Given the description of an element on the screen output the (x, y) to click on. 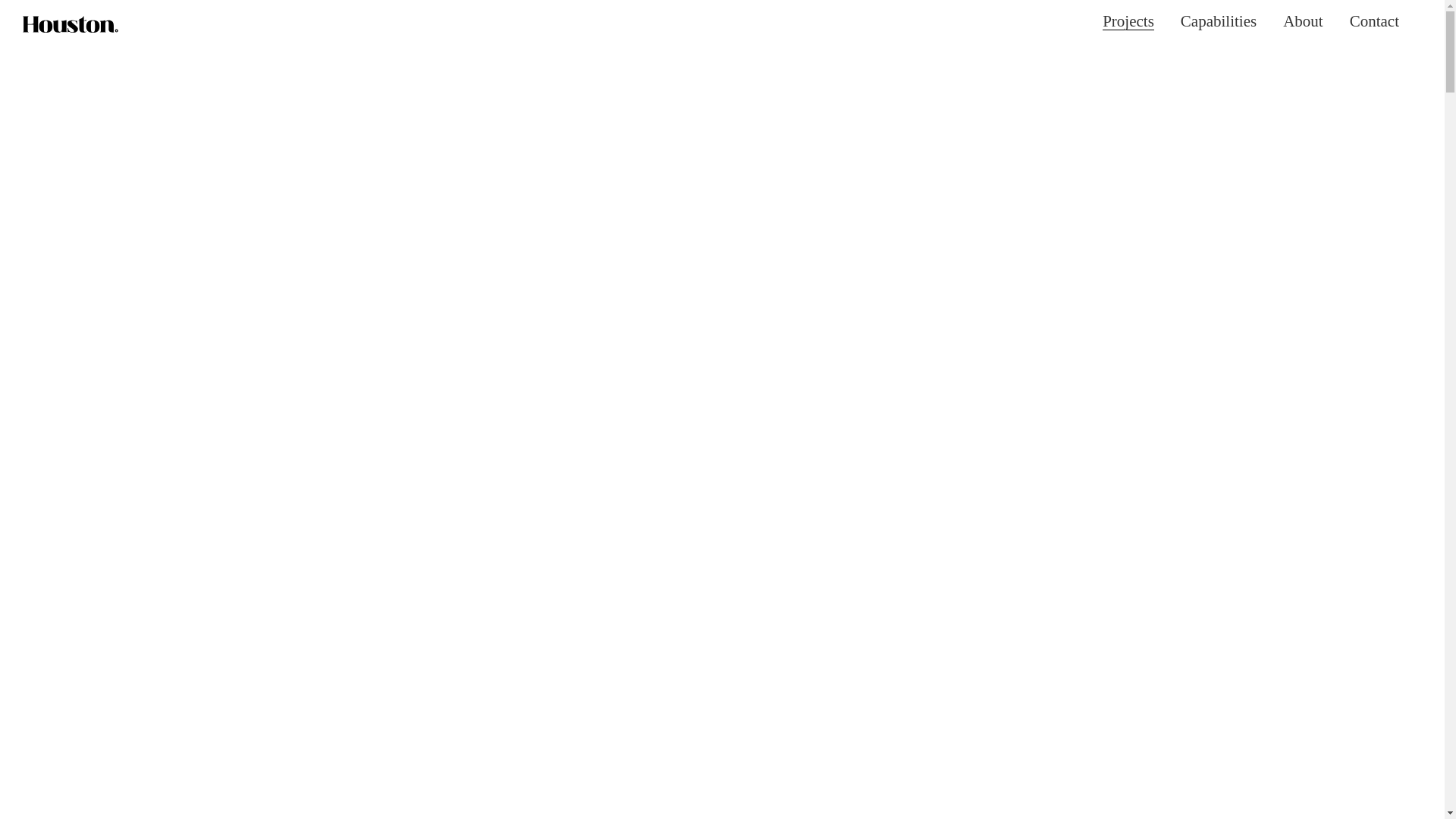
Projects Element type: text (1128, 21)
Capabilities Element type: text (1218, 21)
About Element type: text (1303, 21)
Contact Element type: text (1374, 21)
